Given the description of an element on the screen output the (x, y) to click on. 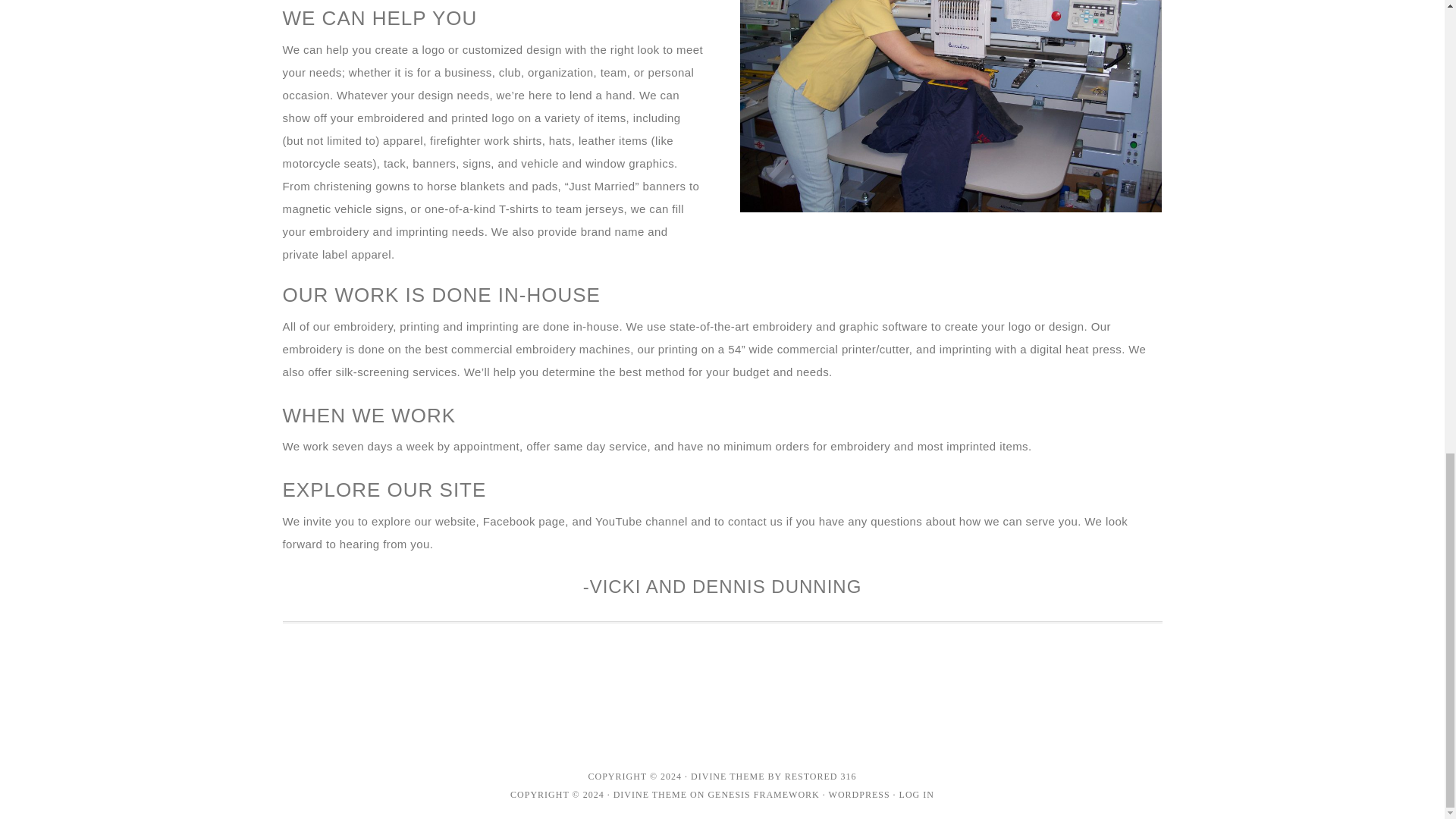
LOG IN (916, 794)
DIVINE THEME (727, 776)
WORDPRESS (858, 794)
DIVINE THEME (649, 794)
GENESIS FRAMEWORK (762, 794)
RESTORED 316 (820, 776)
